Given the description of an element on the screen output the (x, y) to click on. 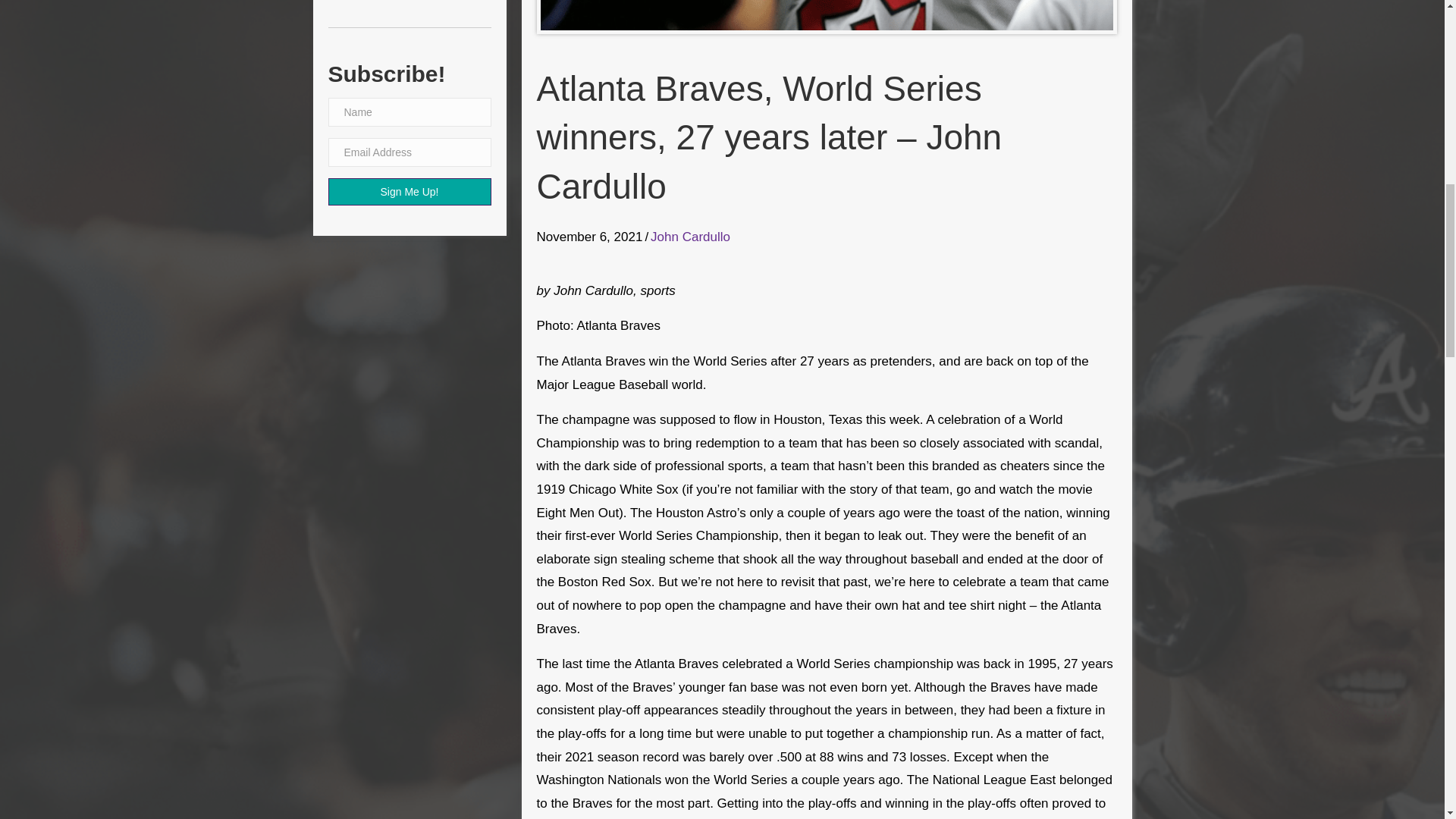
Screen Shot 2021-11-05 at 7.47.40 AM (826, 15)
